Given the description of an element on the screen output the (x, y) to click on. 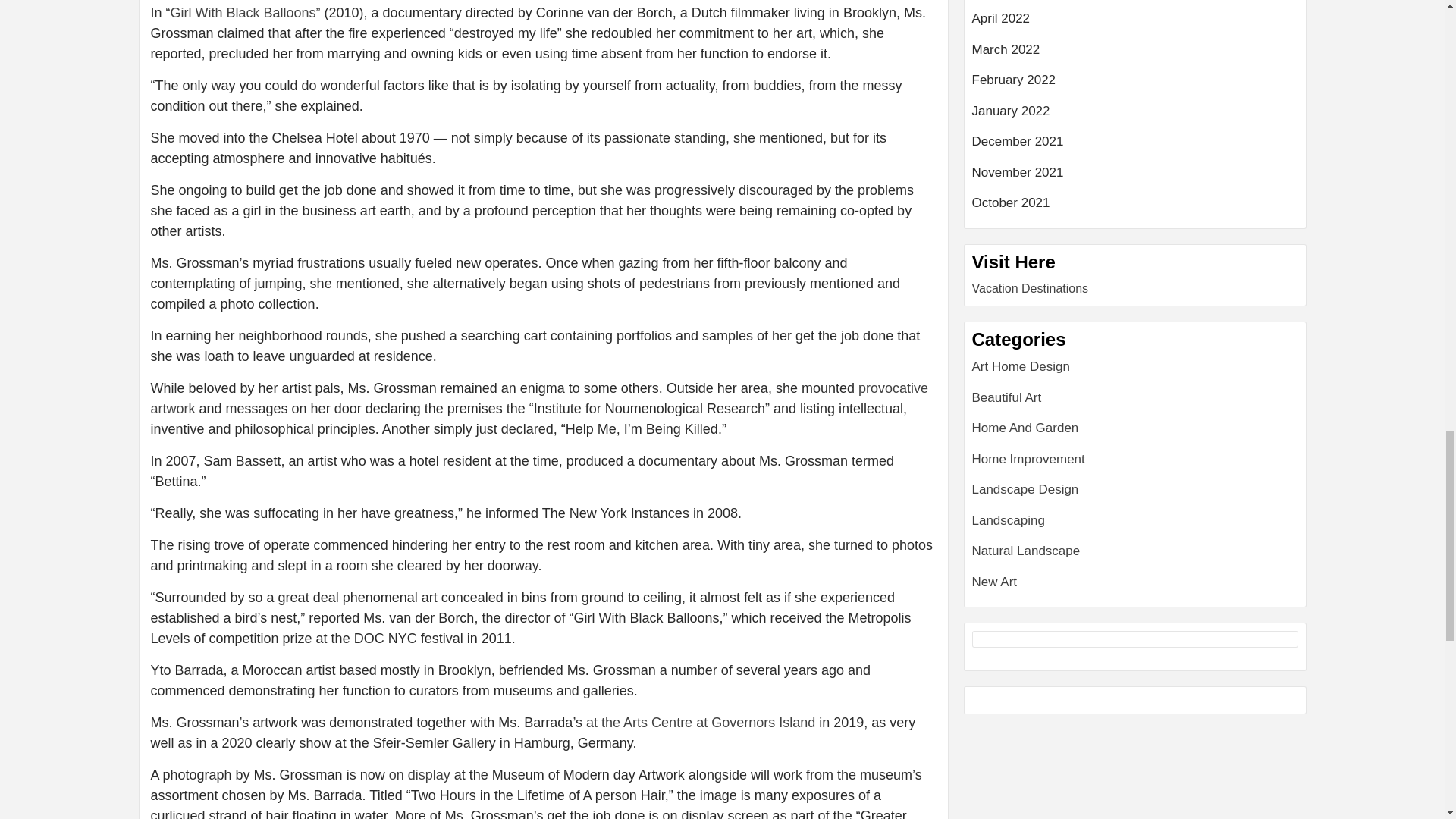
provocative artwork (538, 398)
on display (418, 774)
at the Arts Centre at Governors Island (700, 722)
